Given the description of an element on the screen output the (x, y) to click on. 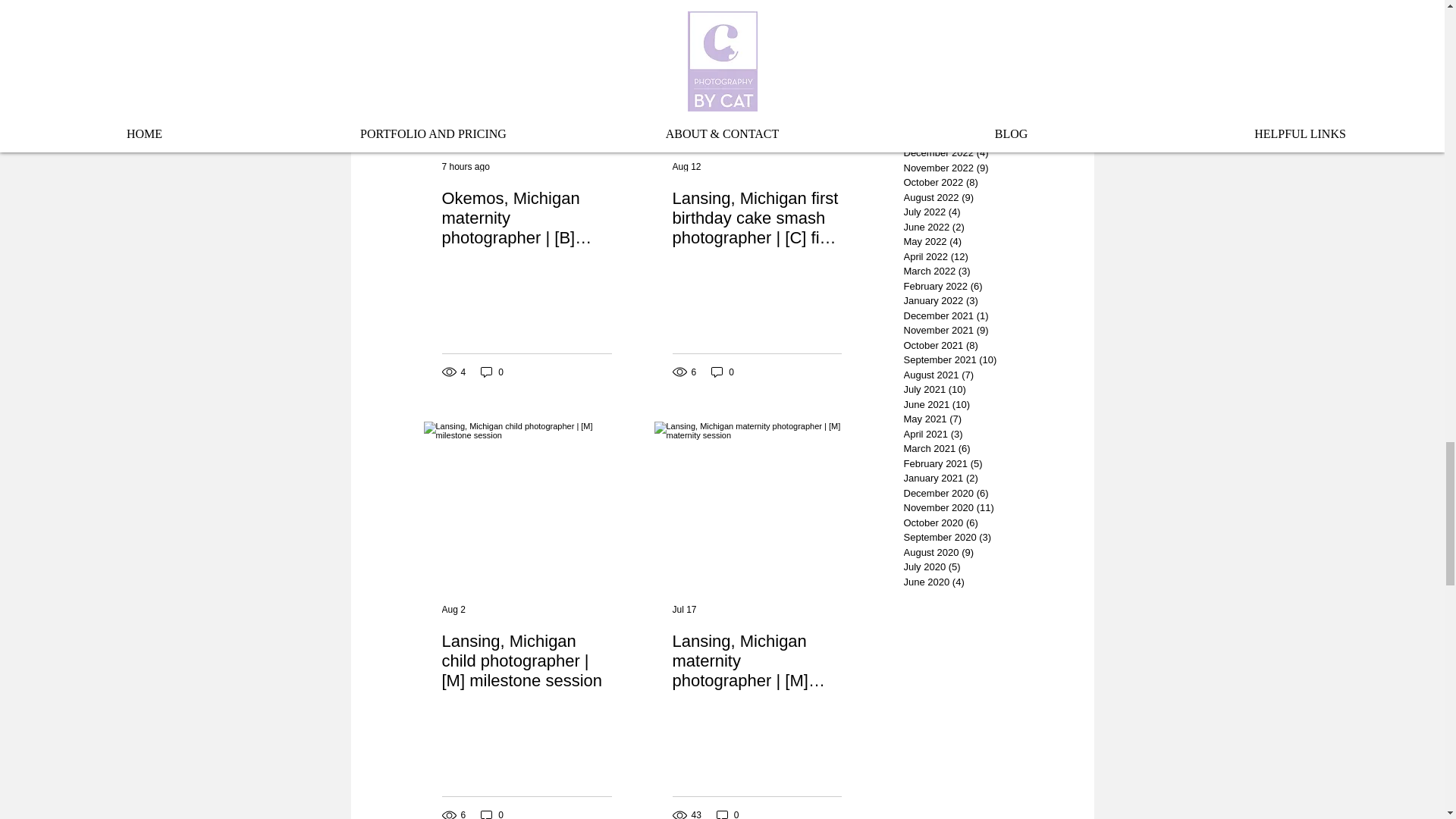
7 hours ago (465, 165)
0 (727, 813)
0 (492, 371)
0 (722, 371)
Aug 2 (452, 610)
Jul 17 (683, 610)
0 (492, 813)
Aug 12 (685, 165)
